Given the description of an element on the screen output the (x, y) to click on. 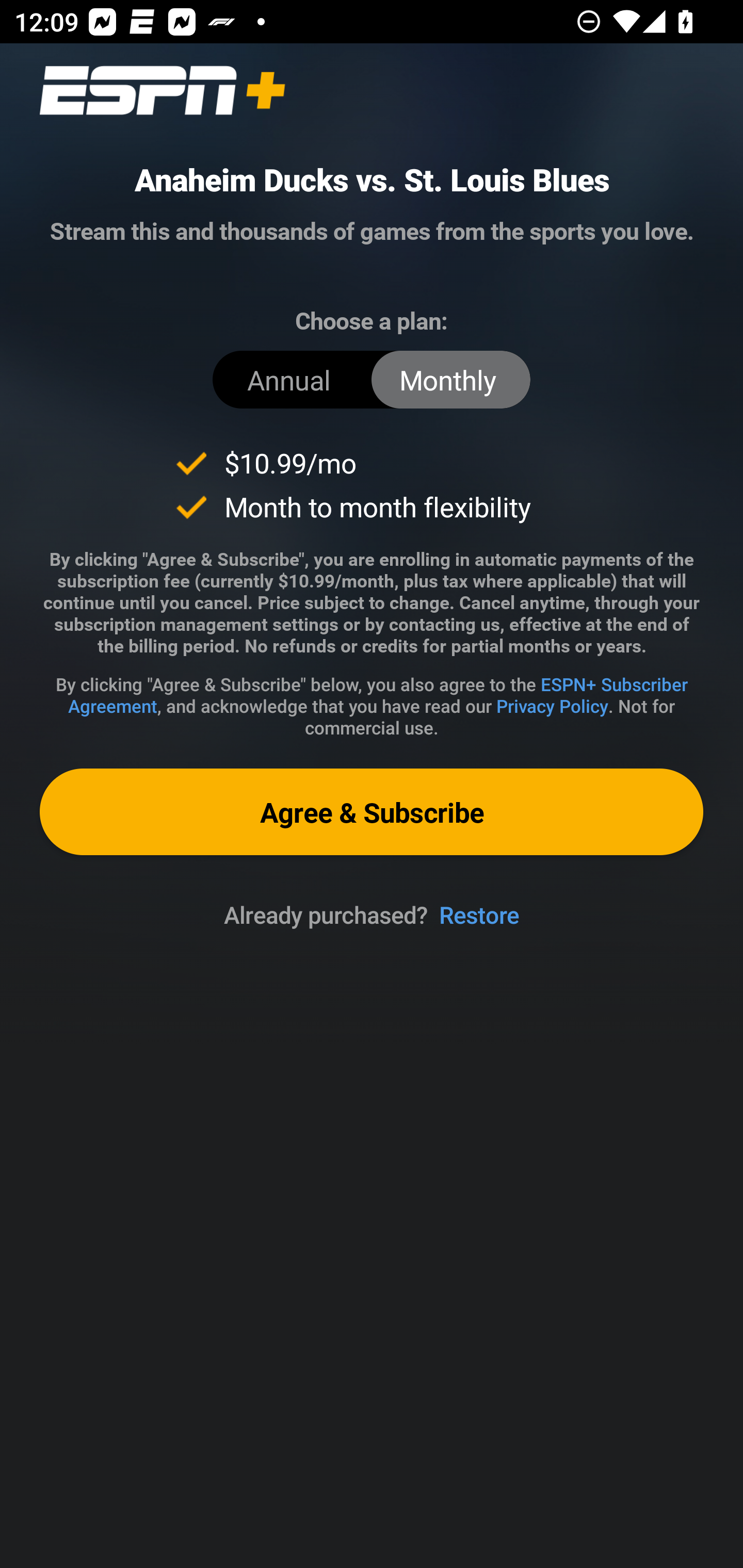
Agree & Subscribe (371, 811)
